Given the description of an element on the screen output the (x, y) to click on. 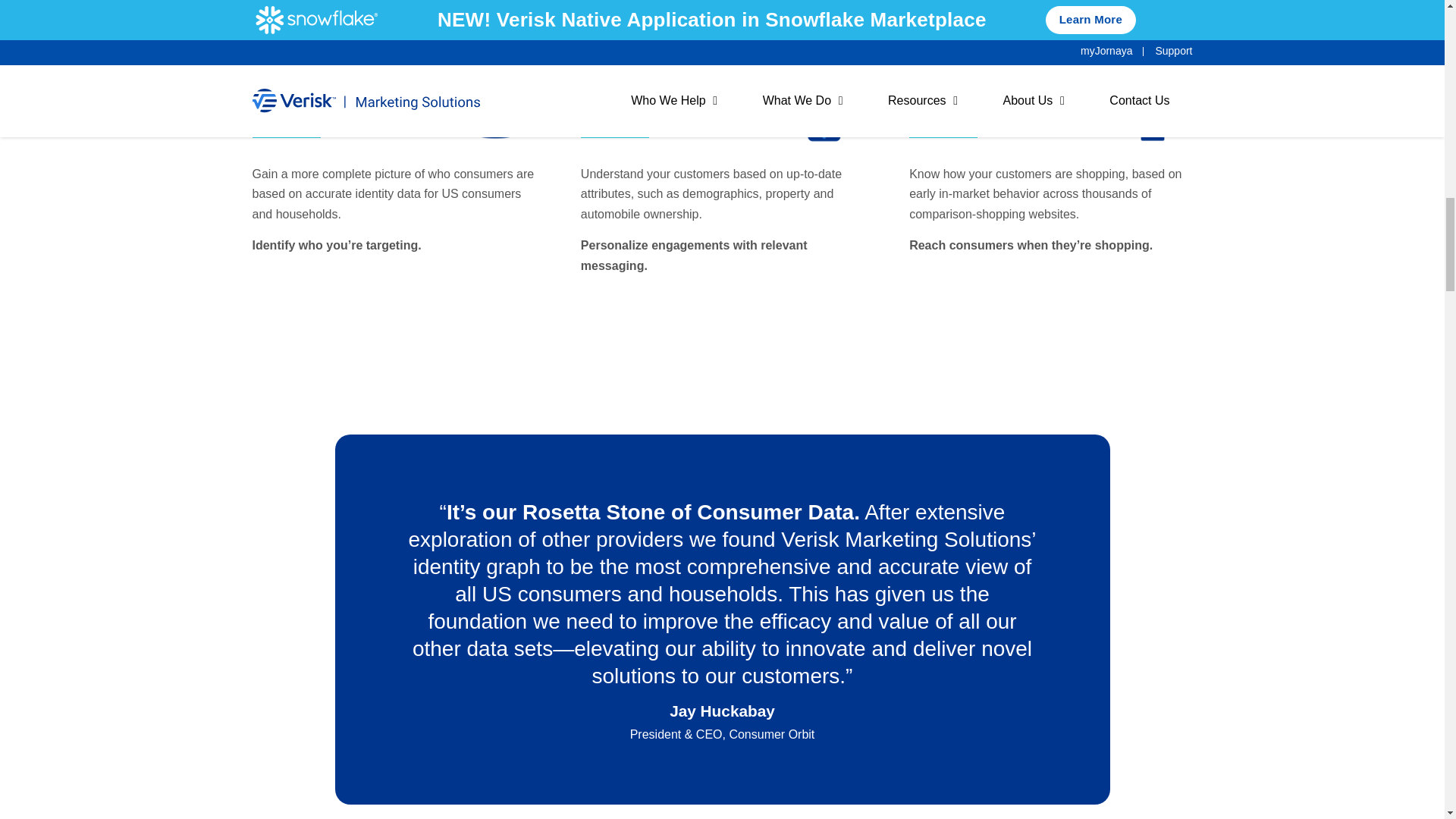
icon-right-time (1152, 115)
icon-right-message (823, 115)
icon-right-person (494, 115)
